Given the description of an element on the screen output the (x, y) to click on. 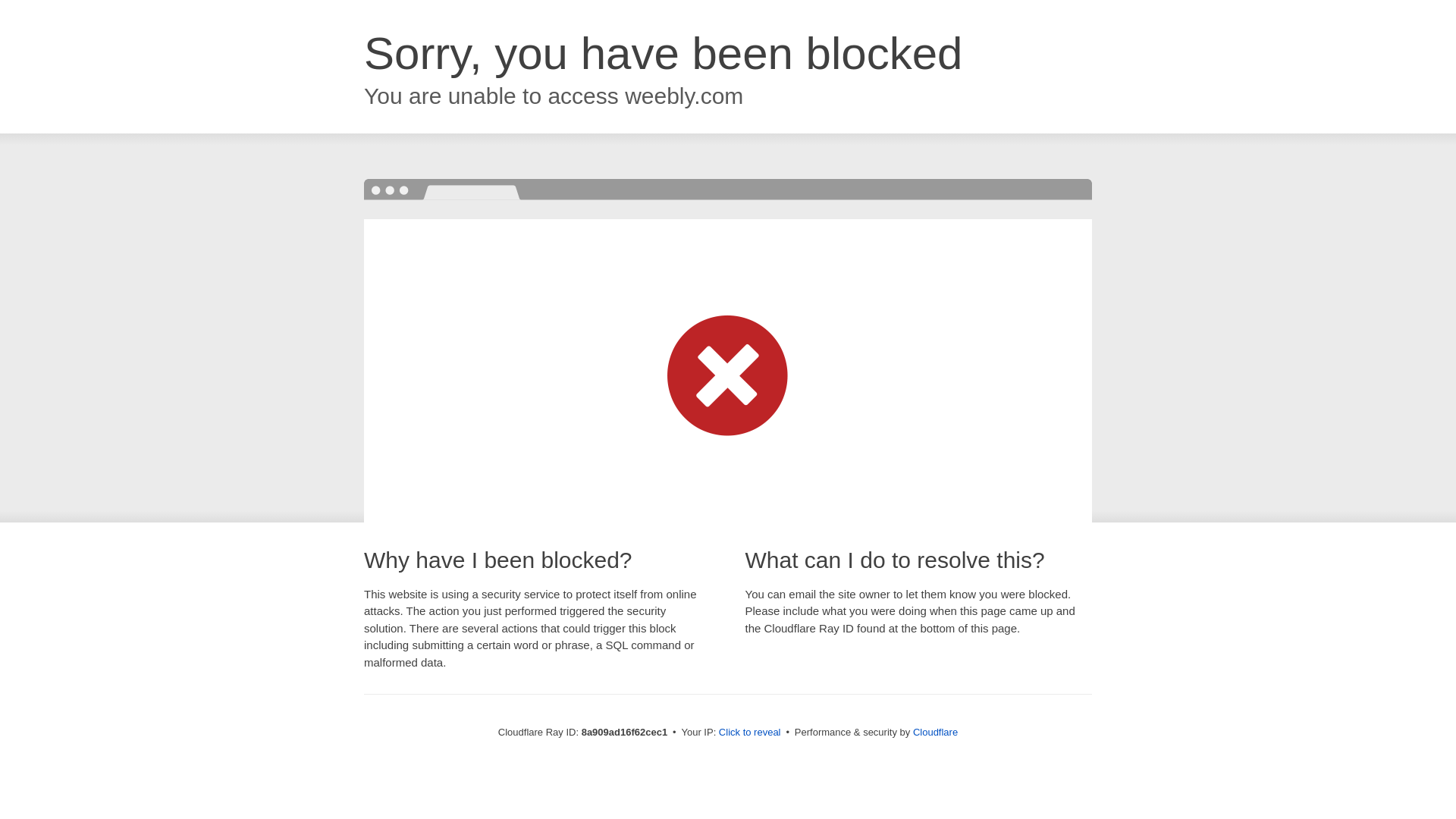
Cloudflare (935, 731)
Click to reveal (749, 732)
